Given the description of an element on the screen output the (x, y) to click on. 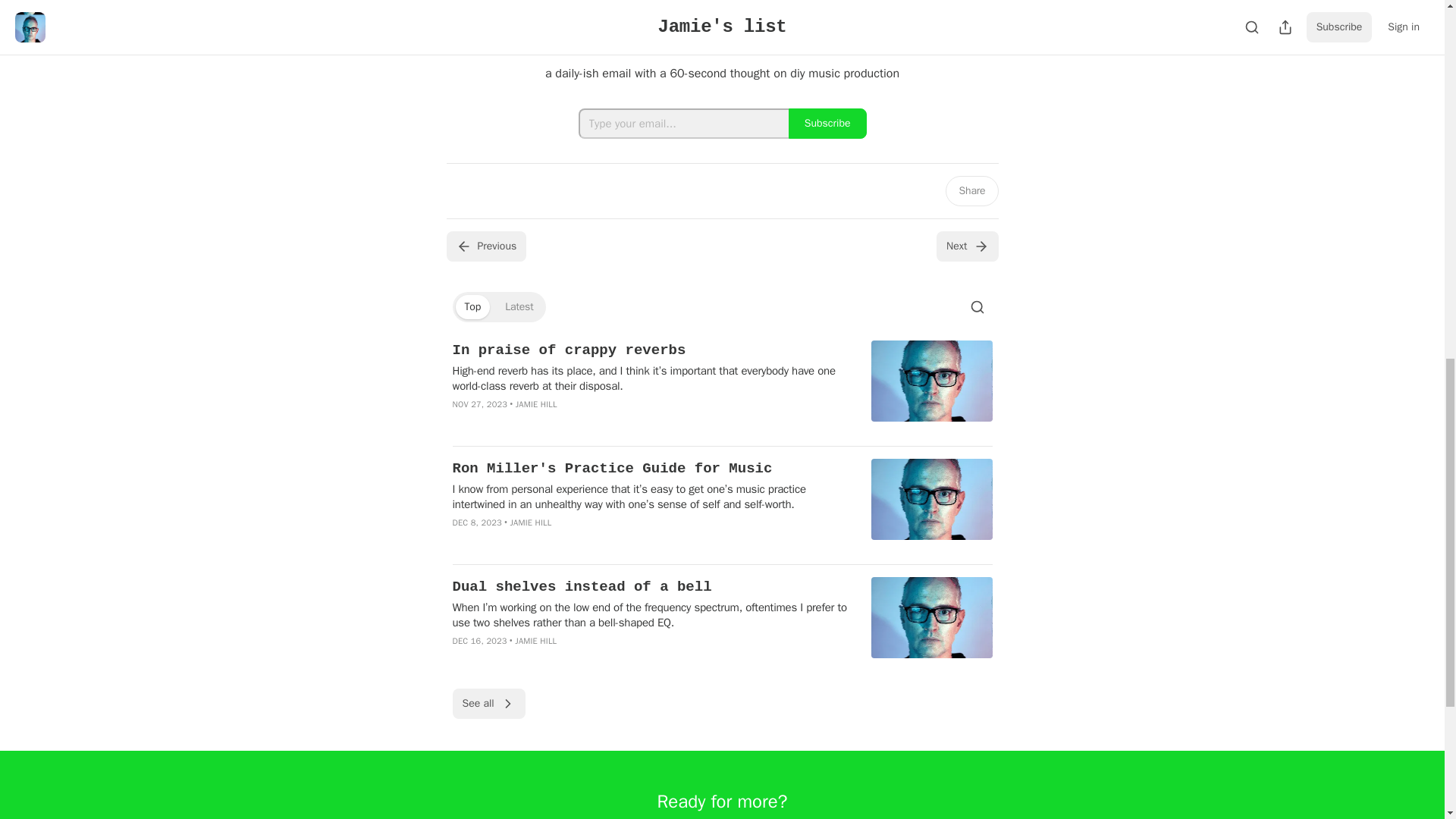
In praise of crappy reverbs (651, 350)
Latest (518, 306)
Share (970, 191)
See all (487, 703)
Ron Miller's Practice Guide for Music (651, 468)
Previous (485, 245)
JAMIE HILL (536, 403)
Subscribe (827, 123)
JAMIE HILL (530, 521)
Dual shelves instead of a bell (651, 587)
